Given the description of an element on the screen output the (x, y) to click on. 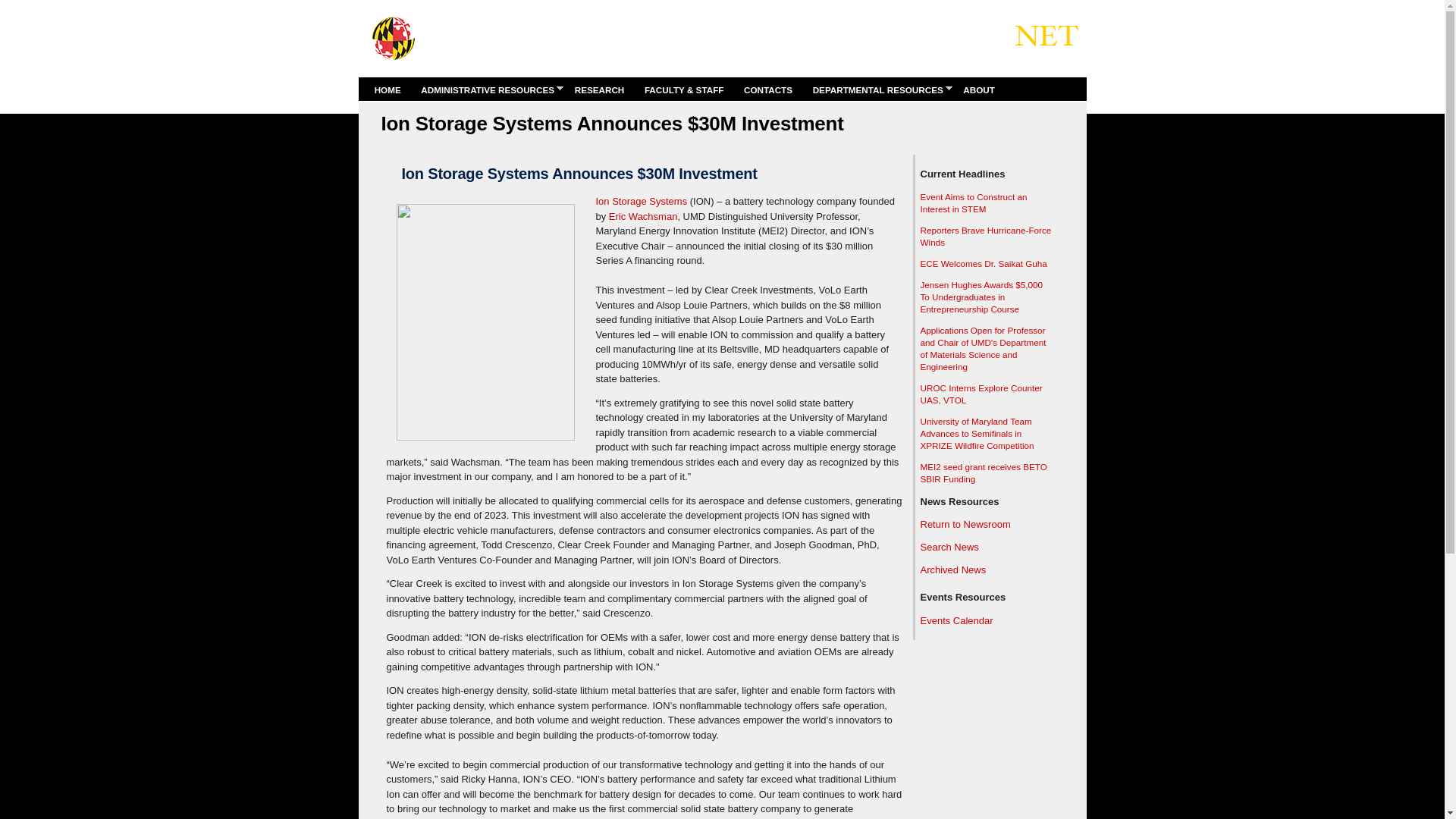
Event Aims to Construct an Interest in STEM (973, 202)
Reporters Brave Hurricane-Force Winds (985, 236)
ABOUT (978, 89)
Eric Wachsman (643, 215)
ECE Welcomes Dr. Saikat Guha (983, 263)
Ion Storage Systems (641, 201)
CONTACTS (766, 89)
RESEARCH (598, 89)
HOME (387, 89)
Skip to main content (693, 1)
